Given the description of an element on the screen output the (x, y) to click on. 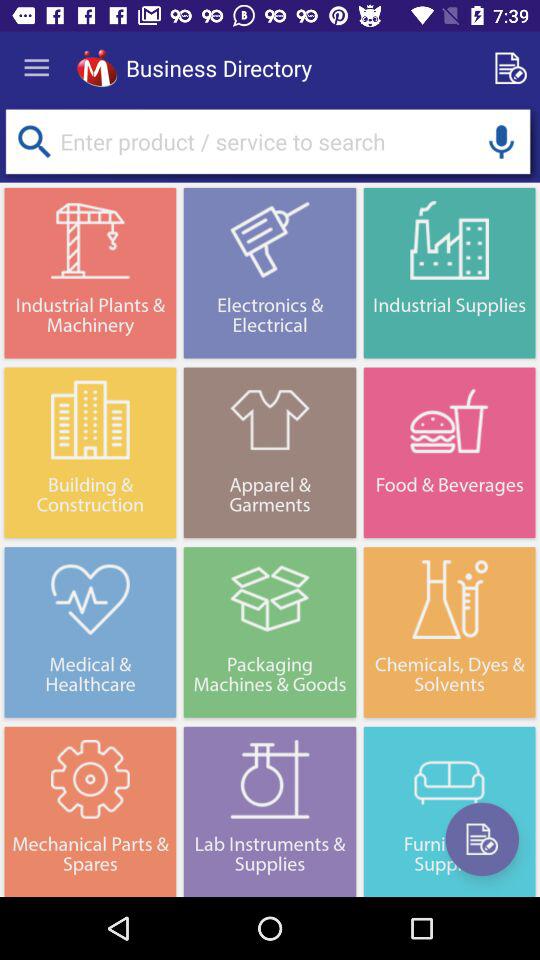
audio search (501, 141)
